Given the description of an element on the screen output the (x, y) to click on. 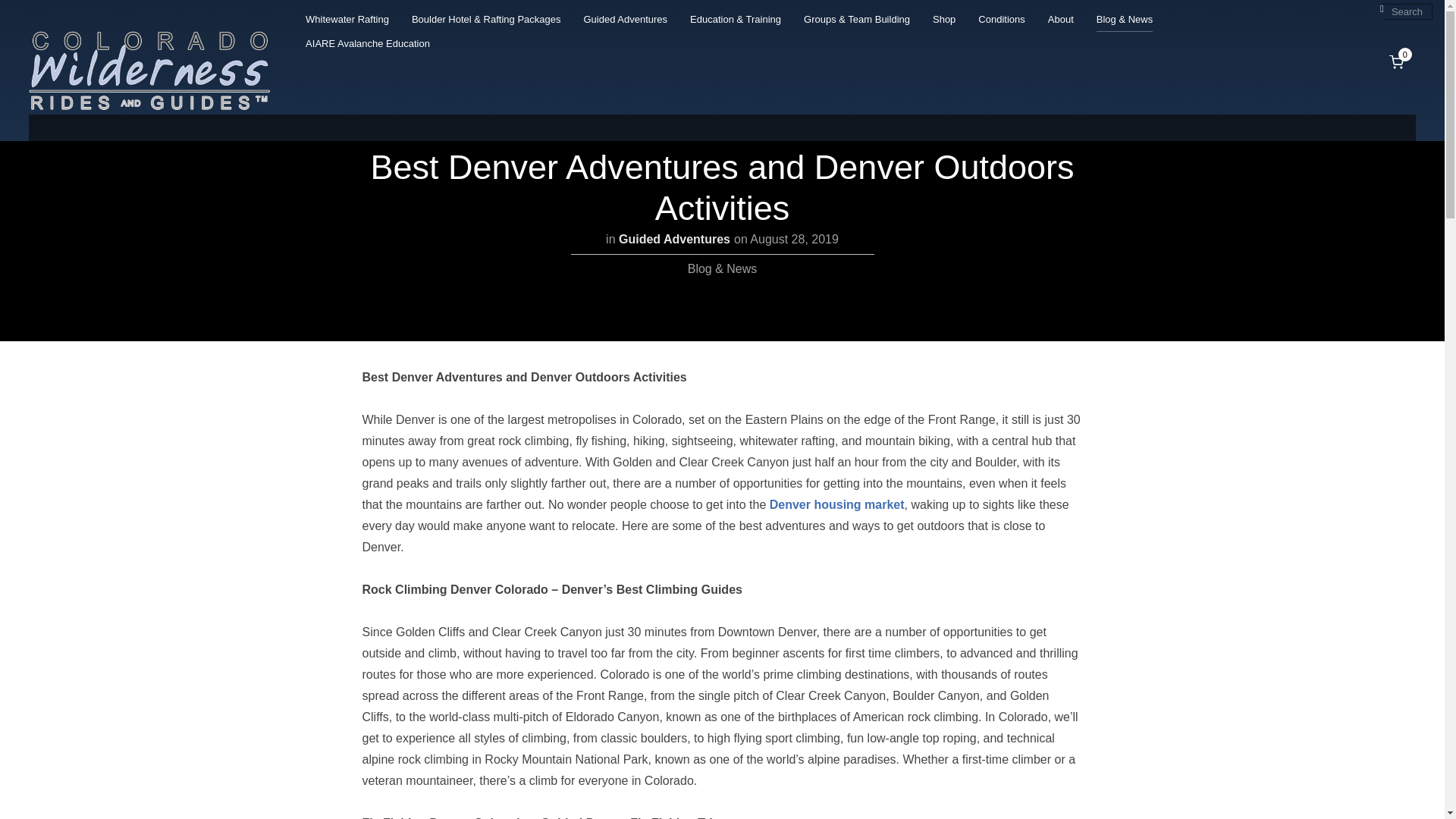
View your shopping cart (1398, 60)
